Given the description of an element on the screen output the (x, y) to click on. 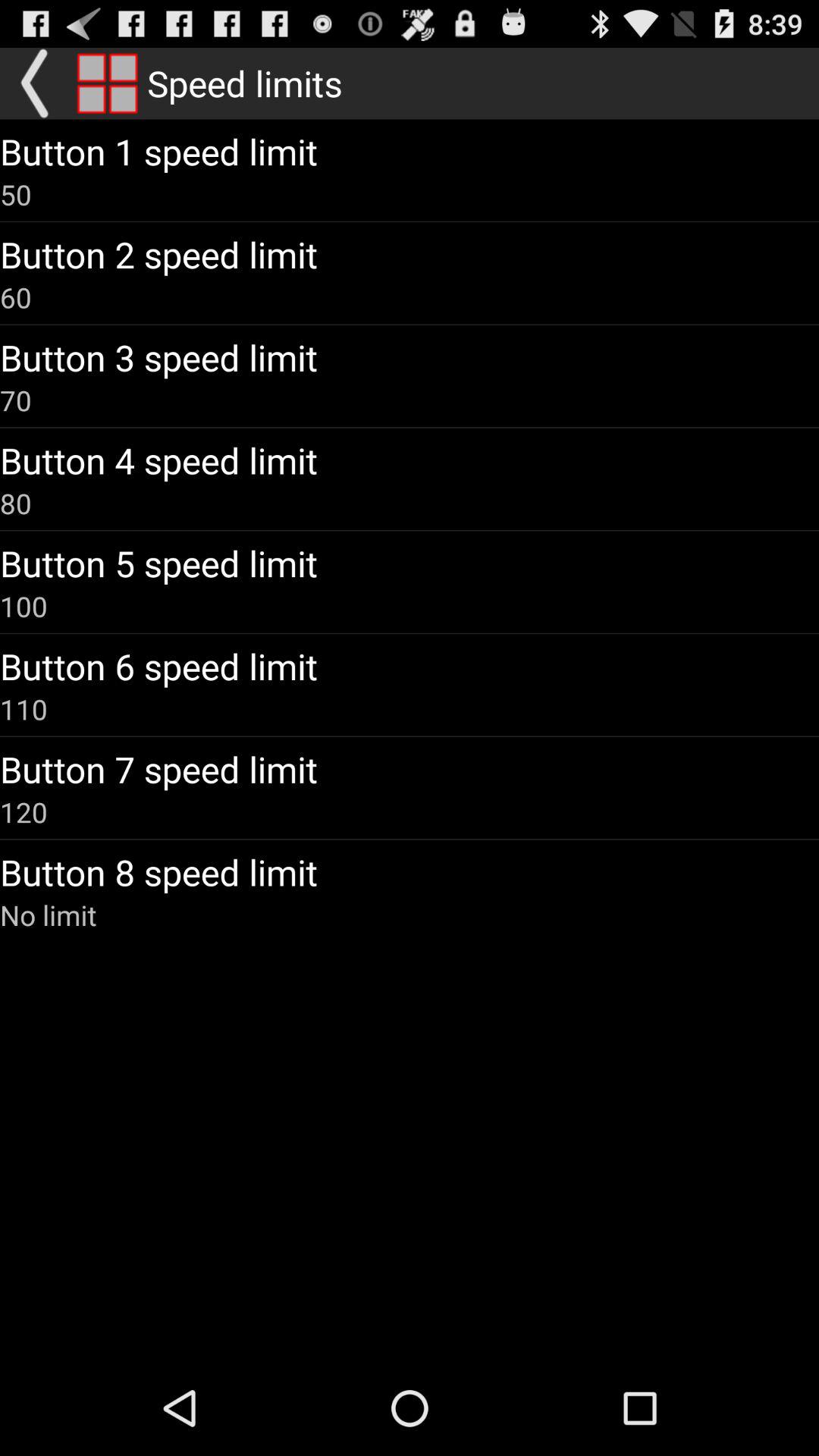
flip until the 70 icon (15, 400)
